Given the description of an element on the screen output the (x, y) to click on. 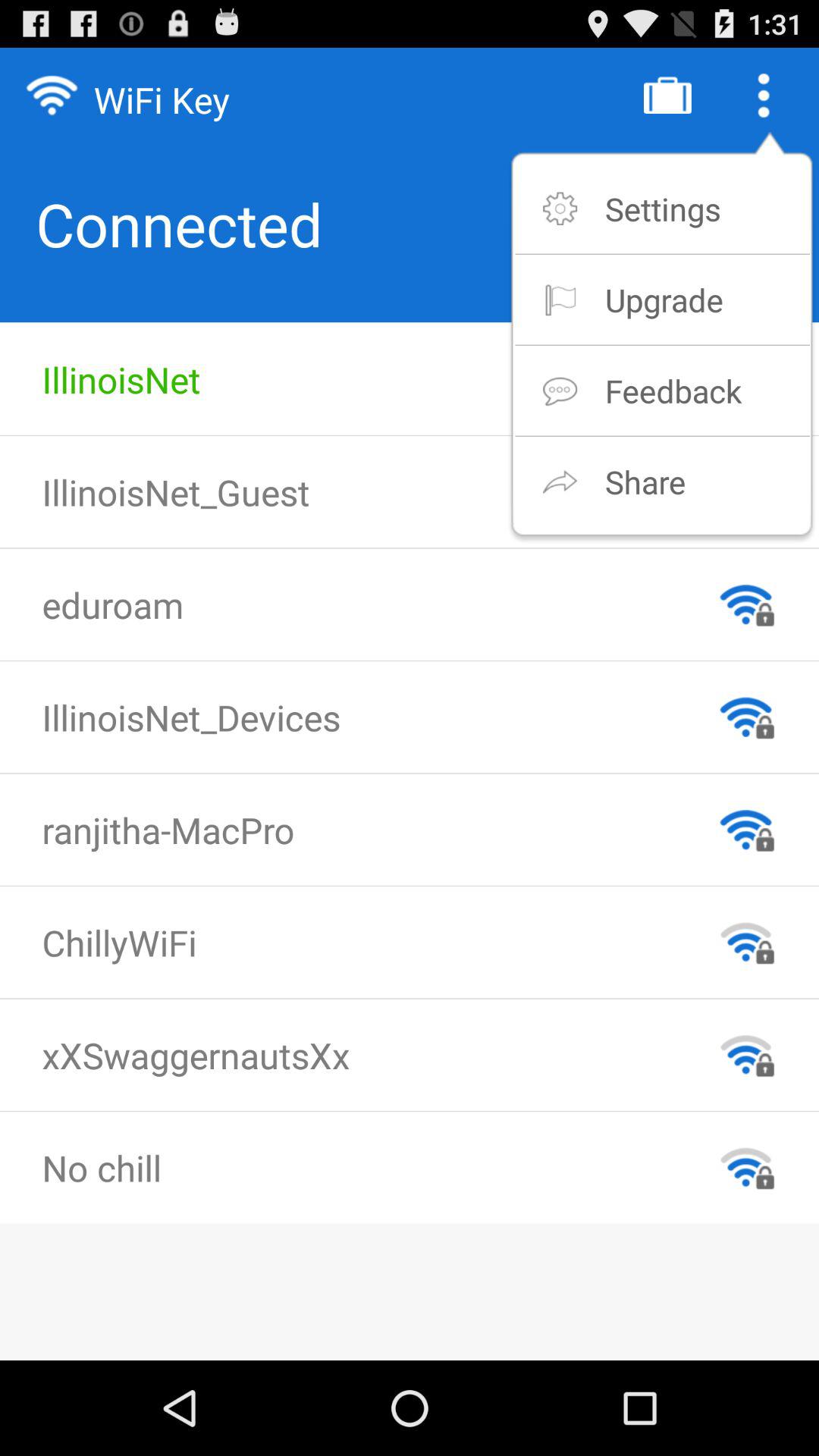
choose the share (645, 481)
